Given the description of an element on the screen output the (x, y) to click on. 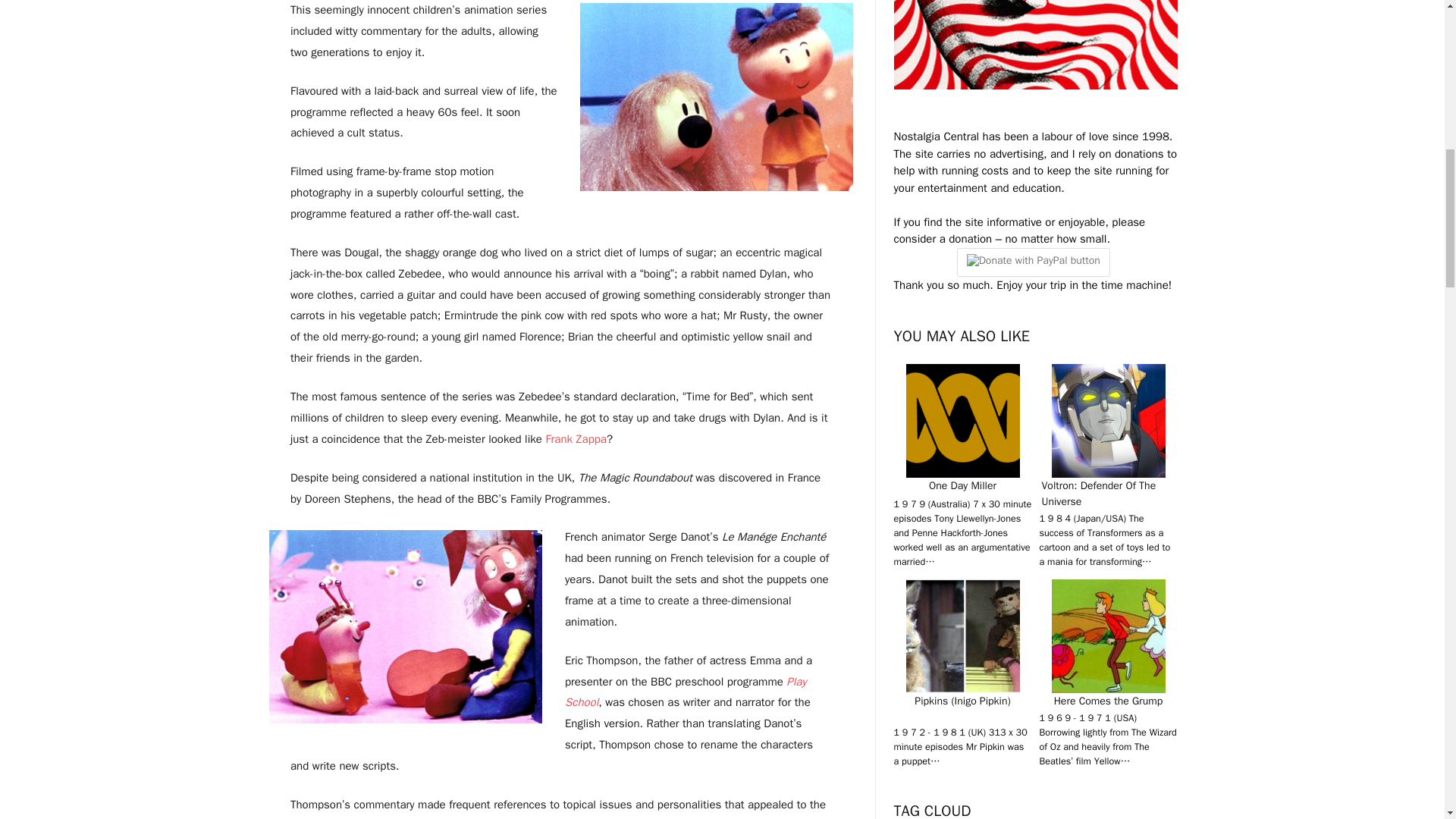
Frank Zappa (575, 438)
